Given the description of an element on the screen output the (x, y) to click on. 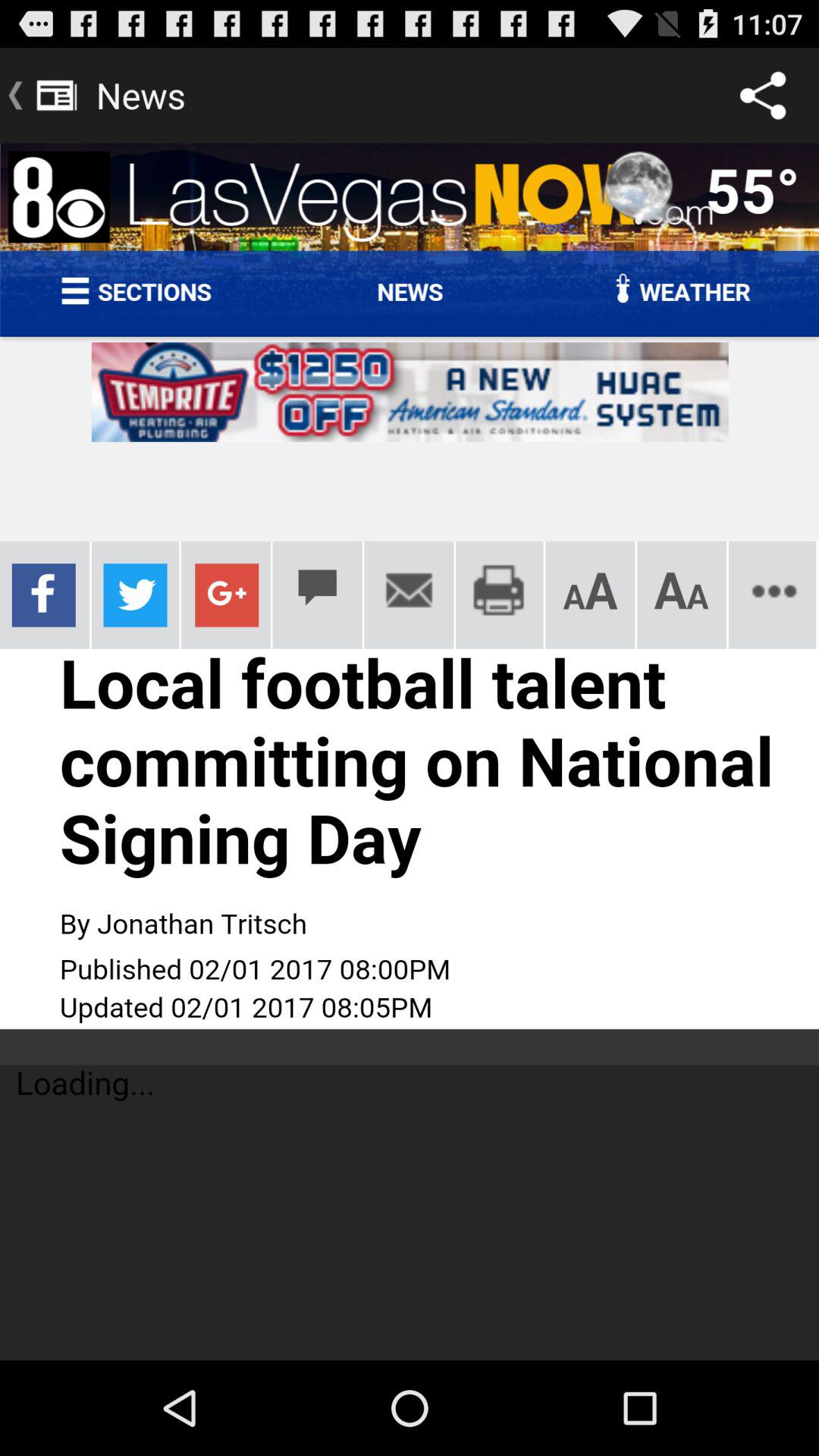
home page (409, 751)
